Given the description of an element on the screen output the (x, y) to click on. 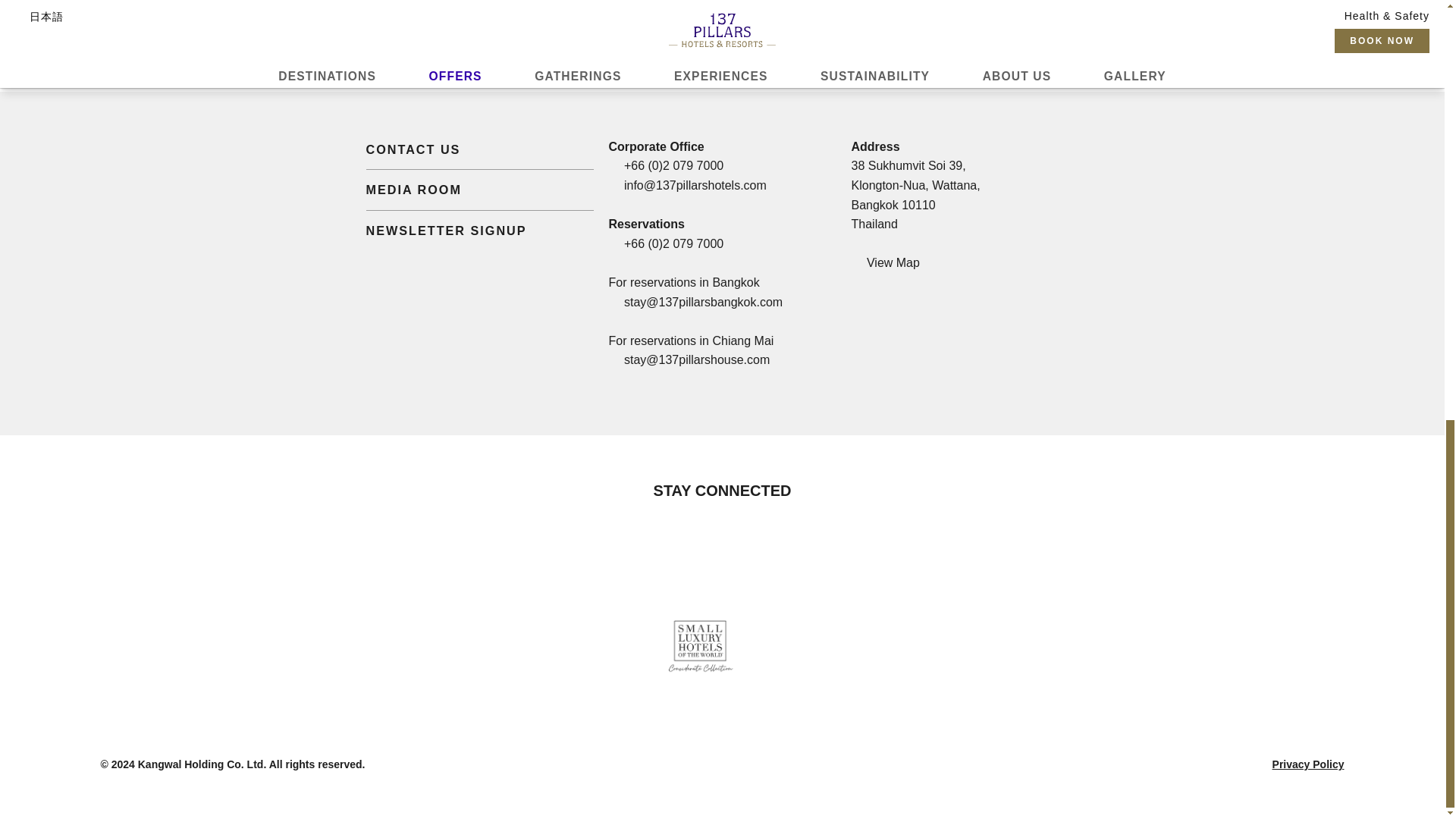
Call us (673, 164)
Small Luxury Hotels of the World - Considerate Collection (708, 641)
View on Google Maps (884, 262)
TripAdvisor Certificate of Excellence (631, 641)
Email us (695, 185)
